Given the description of an element on the screen output the (x, y) to click on. 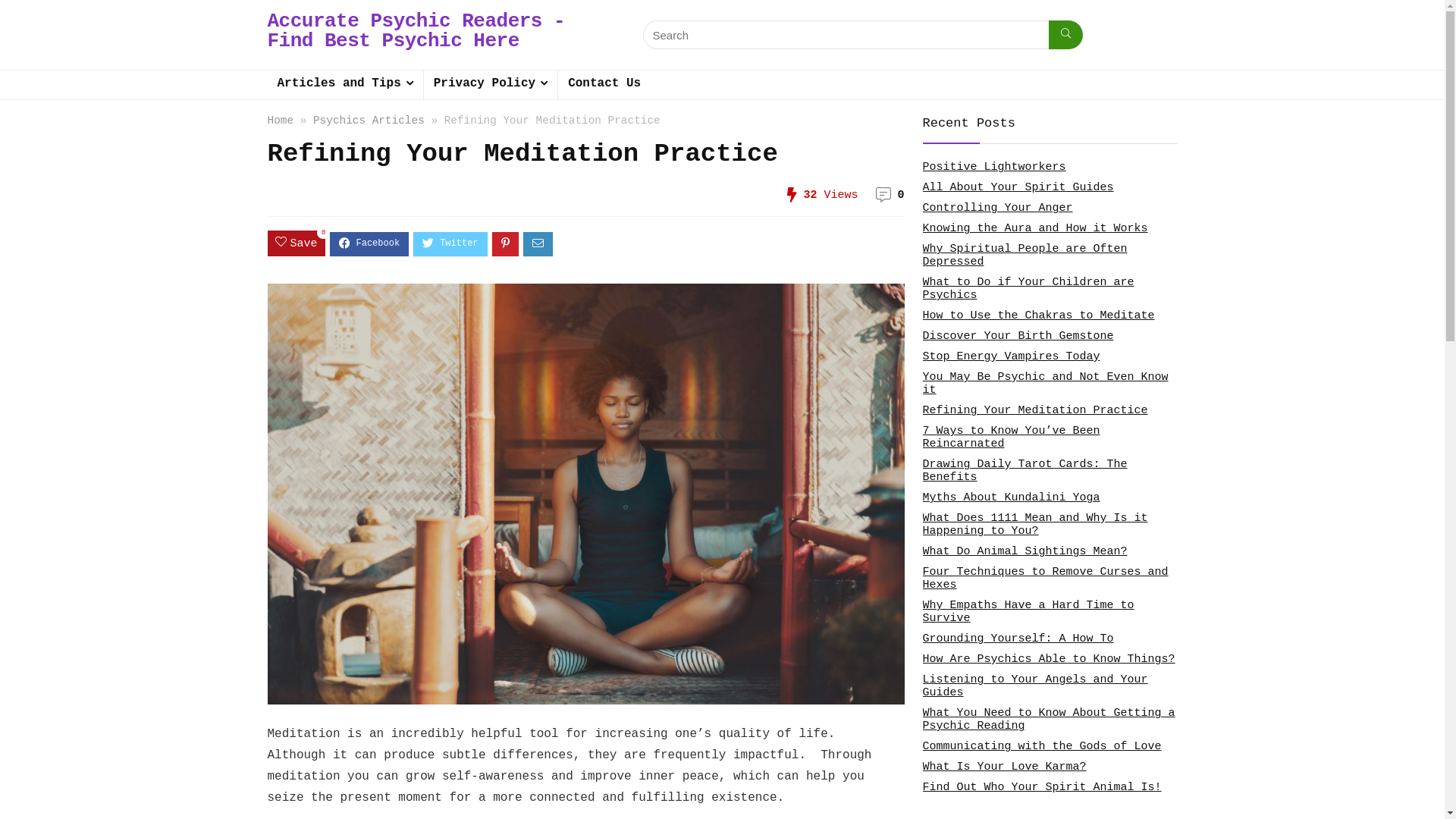
Controlling Your Anger Element type: text (997, 207)
What to Do if Your Children are Psychics Element type: text (1027, 288)
What Do Animal Sightings Mean? Element type: text (1024, 551)
Grounding Yourself: A How To Element type: text (1017, 638)
What Does 1111 Mean and Why Is it Happening to You? Element type: text (1034, 524)
What Is Your Love Karma? Element type: text (1003, 766)
Knowing the Aura and How it Works Element type: text (1034, 228)
Articles and Tips Element type: text (344, 84)
Privacy Policy Element type: text (490, 84)
What You Need to Know About Getting a Psychic Reading Element type: text (1048, 719)
Find Out Who Your Spirit Animal Is! Element type: text (1041, 787)
Why Spiritual People are Often Depressed Element type: text (1024, 255)
Communicating with the Gods of Love Element type: text (1041, 746)
Listening to Your Angels and Your Guides Element type: text (1034, 686)
Why Empaths Have a Hard Time to Survive Element type: text (1027, 611)
Psychics Articles Element type: text (368, 120)
How to Use the Chakras to Meditate Element type: text (1038, 315)
Positive Lightworkers Element type: text (993, 166)
Contact Us Element type: text (604, 84)
Four Techniques to Remove Curses and Hexes Element type: text (1044, 578)
0 Element type: text (900, 194)
Stop Energy Vampires Today Element type: text (1010, 356)
How Are Psychics Able to Know Things? Element type: text (1048, 658)
Discover Your Birth Gemstone Element type: text (1017, 335)
Myths About Kundalini Yoga Element type: text (1010, 497)
Drawing Daily Tarot Cards: The Benefits Element type: text (1024, 470)
All About Your Spirit Guides Element type: text (1017, 187)
You May Be Psychic and Not Even Know it Element type: text (1044, 383)
Refining Your Meditation Practice Element type: text (1034, 410)
Home Element type: text (279, 120)
